Given the description of an element on the screen output the (x, y) to click on. 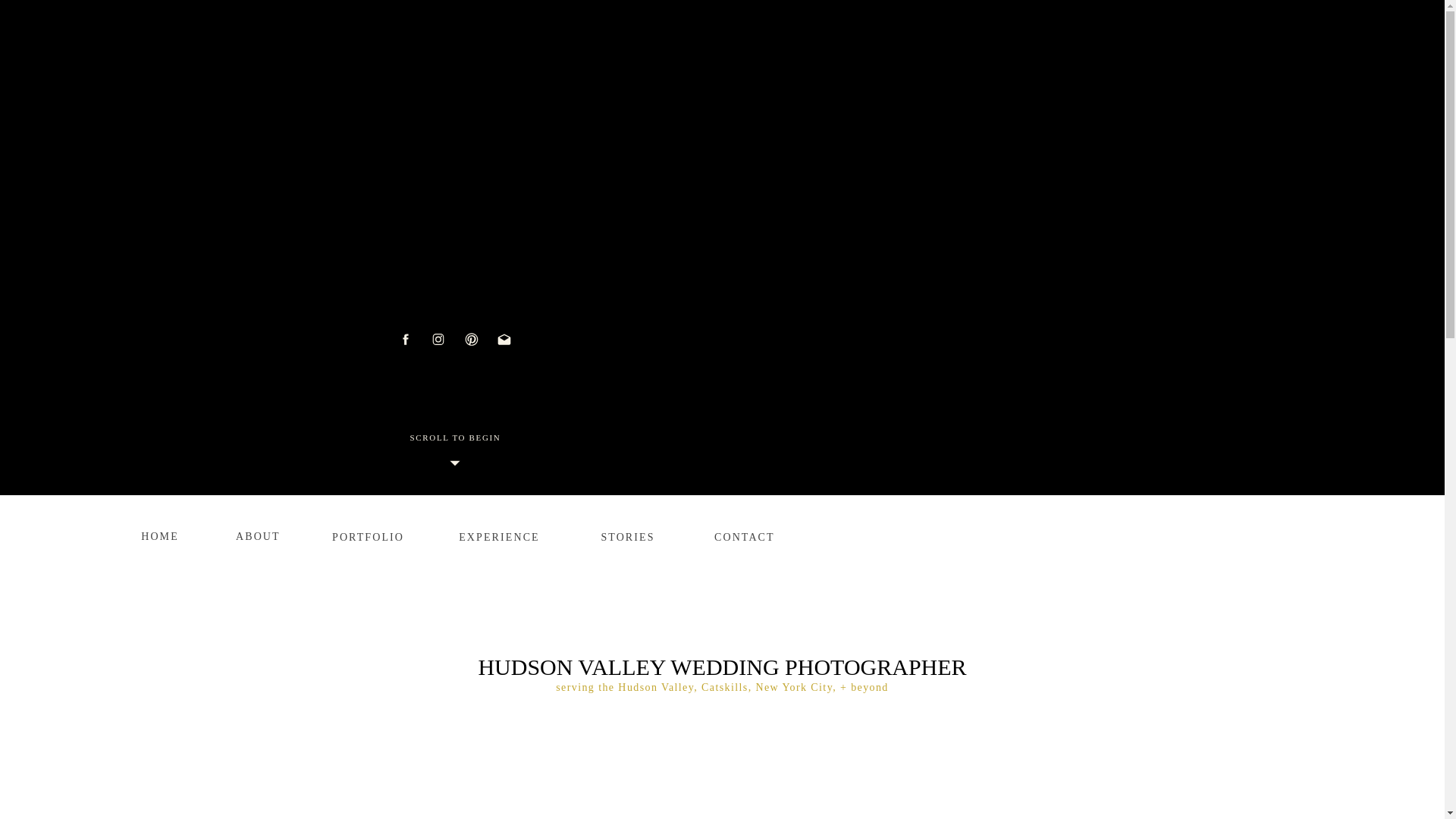
STORIES (628, 533)
CONTACT (742, 533)
HOME (160, 533)
ABOUT (255, 533)
PORTFOLIO (366, 533)
EXPERIENCE (499, 533)
